Given the description of an element on the screen output the (x, y) to click on. 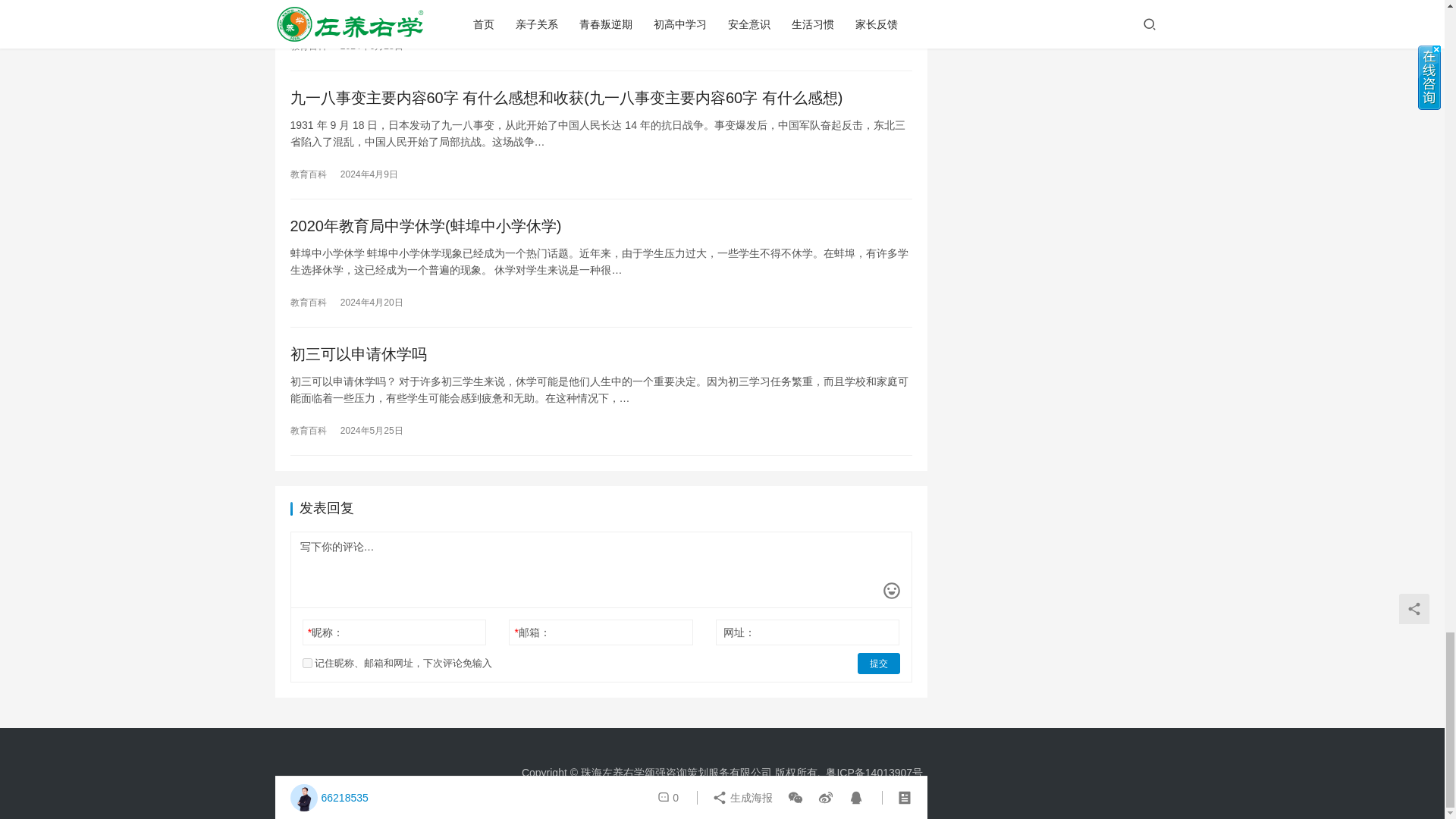
yes (306, 663)
